Given the description of an element on the screen output the (x, y) to click on. 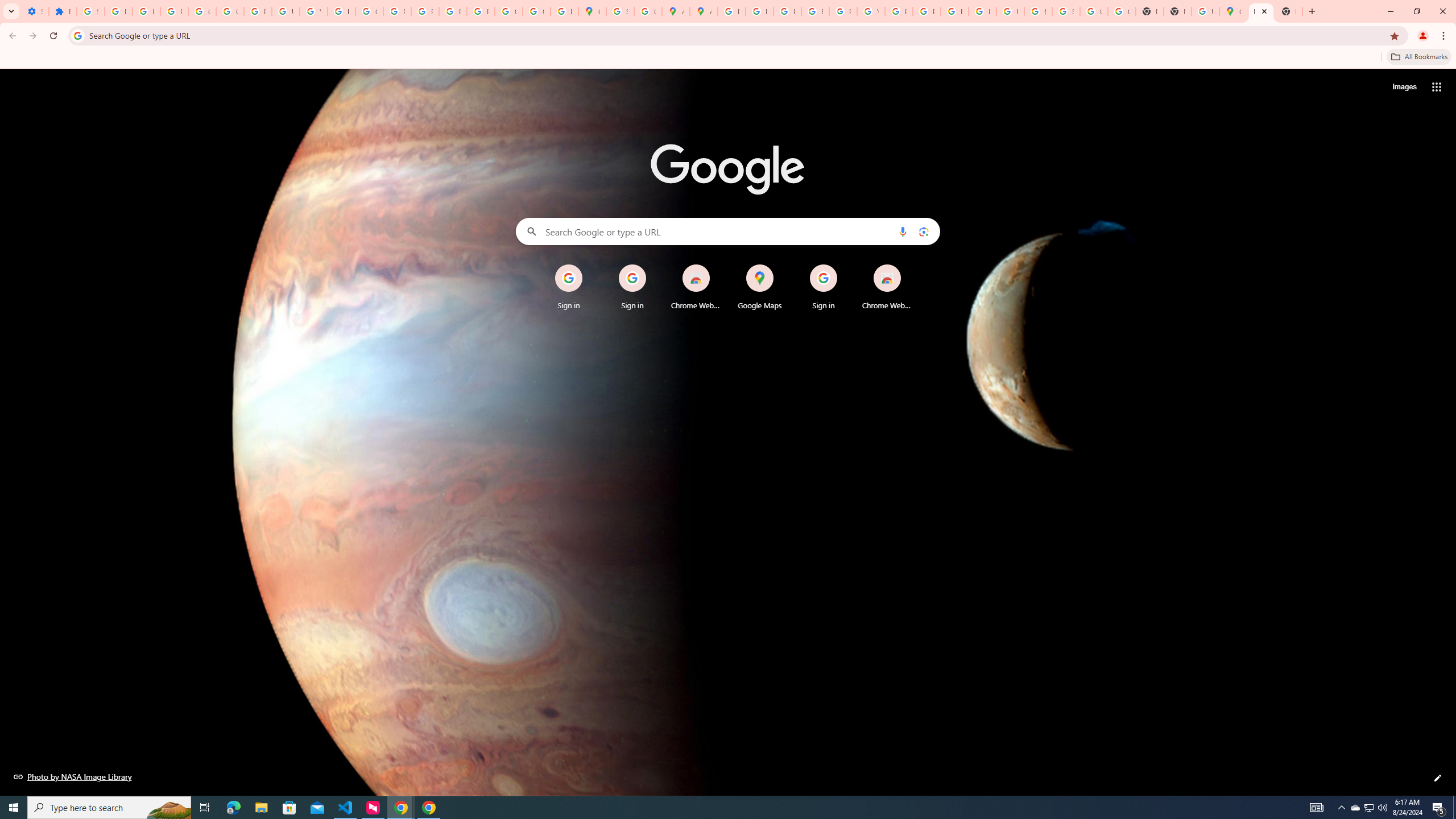
Privacy Help Center - Policies Help (787, 11)
https://scholar.google.com/ (341, 11)
Google Maps (760, 287)
Sign in - Google Accounts (1065, 11)
Chrome Web Store (887, 287)
Privacy Help Center - Policies Help (759, 11)
Delete photos & videos - Computer - Google Photos Help (118, 11)
